Given the description of an element on the screen output the (x, y) to click on. 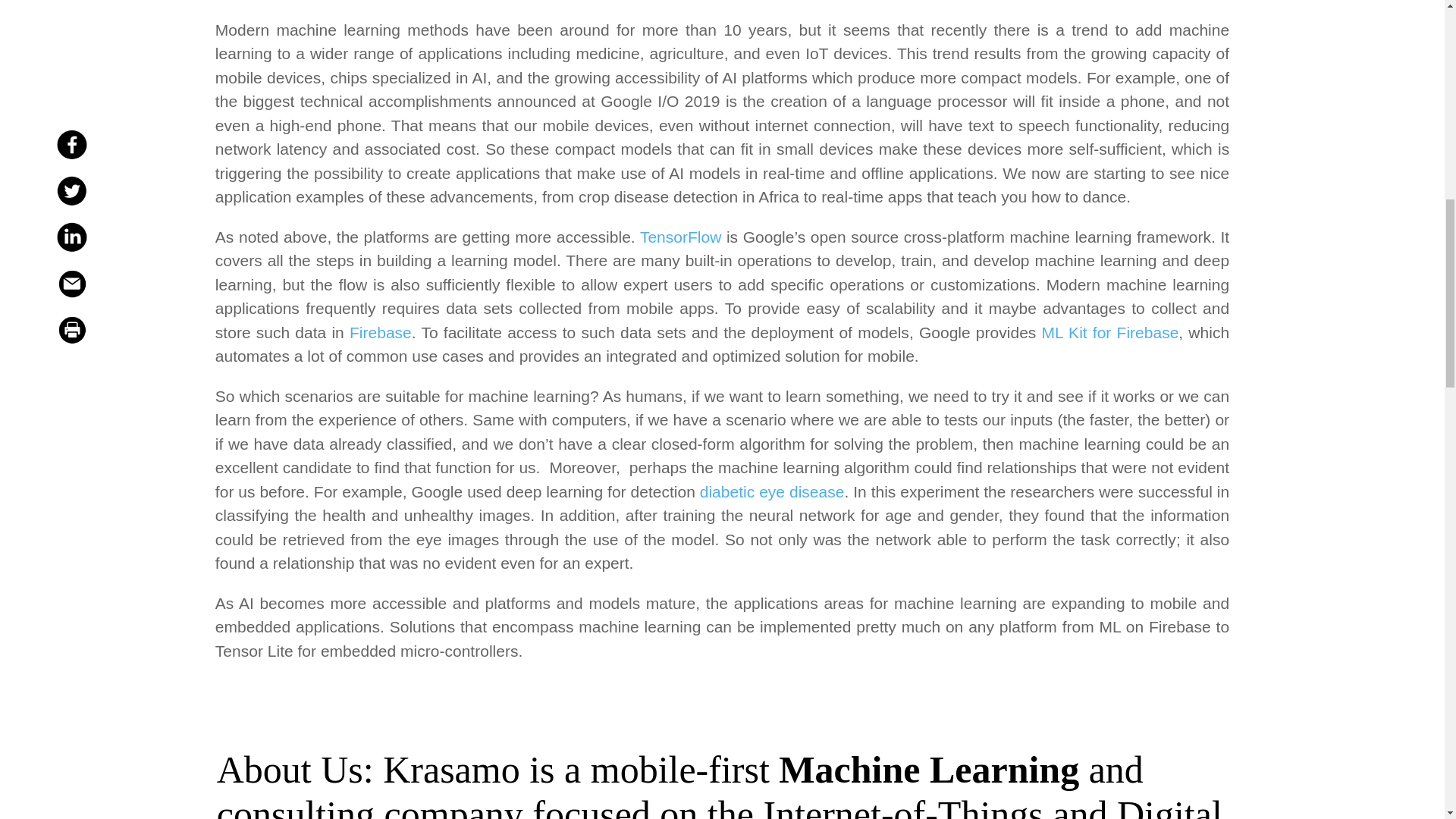
TensorFlow (680, 236)
diabetic eye disease (772, 491)
ML Kit for Firebase (1110, 332)
Firebase (380, 332)
